Given the description of an element on the screen output the (x, y) to click on. 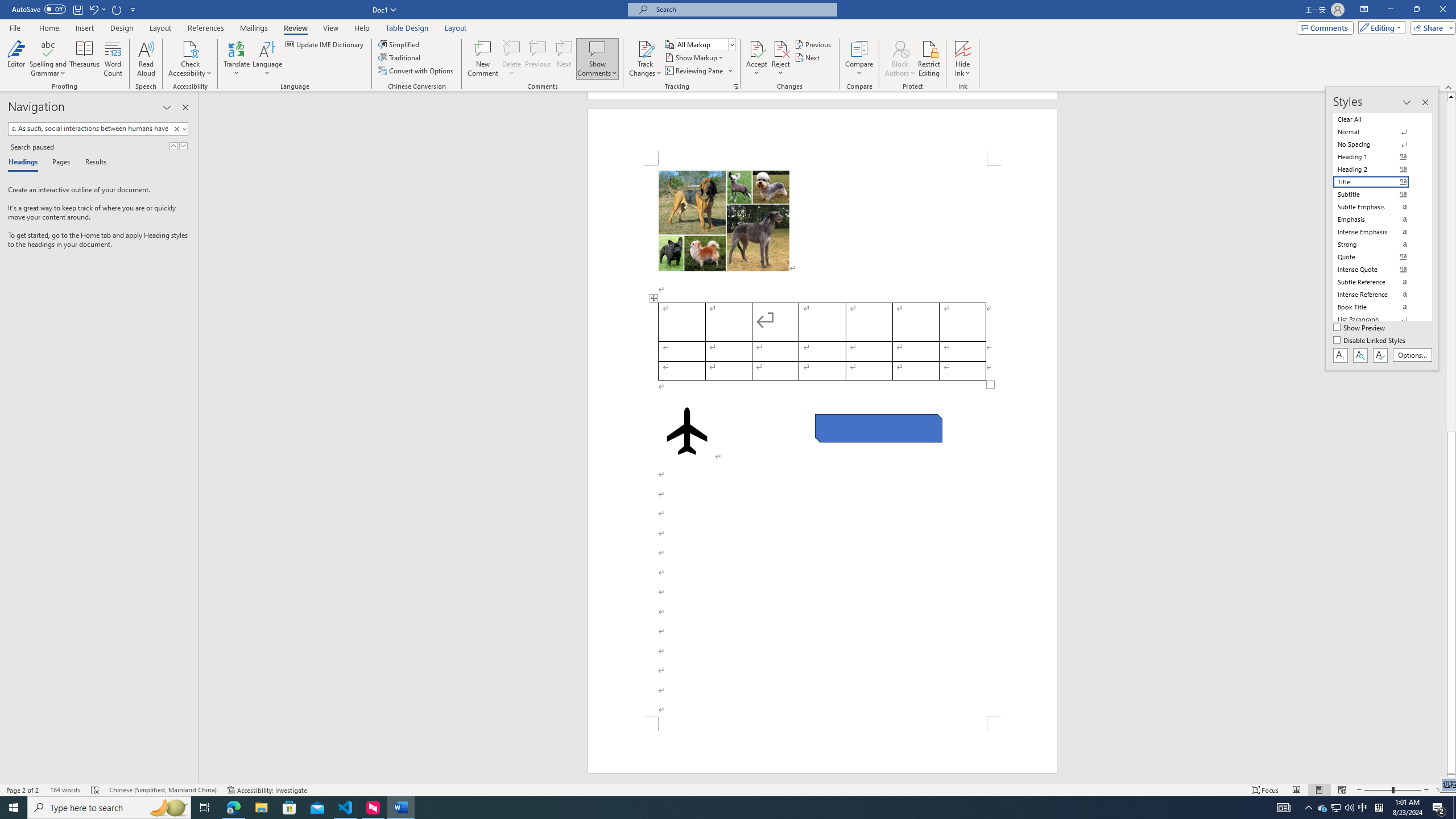
Close pane (185, 107)
Collapse the Ribbon (1448, 86)
Mailings (253, 28)
Class: NetUIImage (176, 128)
Block Authors (900, 48)
Home (48, 28)
Zoom In (1426, 790)
List Paragraph (1377, 319)
Search document (89, 128)
Save (77, 9)
Pages (59, 162)
Microsoft search (742, 9)
Hide Ink (962, 48)
Intense Reference (1377, 294)
Read Mode (1296, 790)
